Given the description of an element on the screen output the (x, y) to click on. 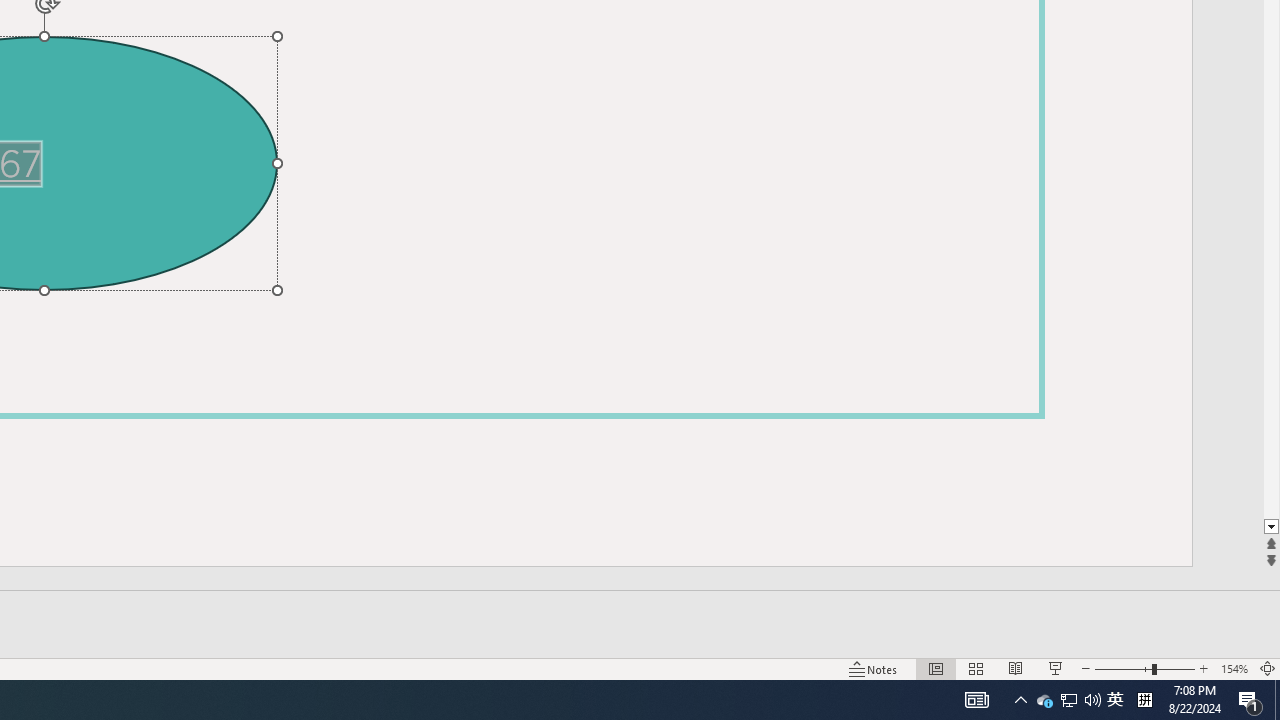
Zoom 154% (1234, 668)
